Given the description of an element on the screen output the (x, y) to click on. 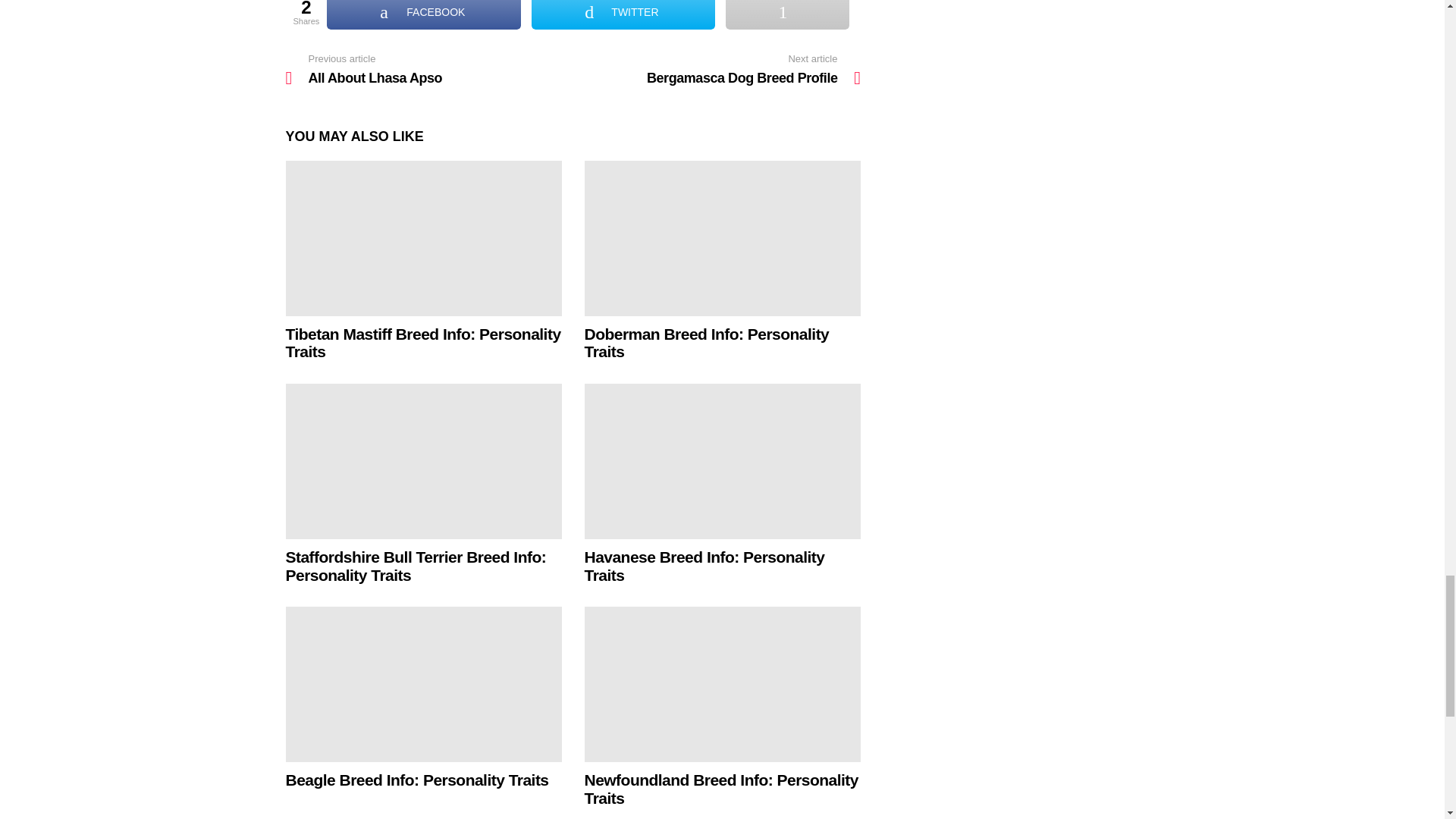
Share on More Button (787, 14)
Share on Facebook (423, 14)
Share on Twitter (622, 14)
